Given the description of an element on the screen output the (x, y) to click on. 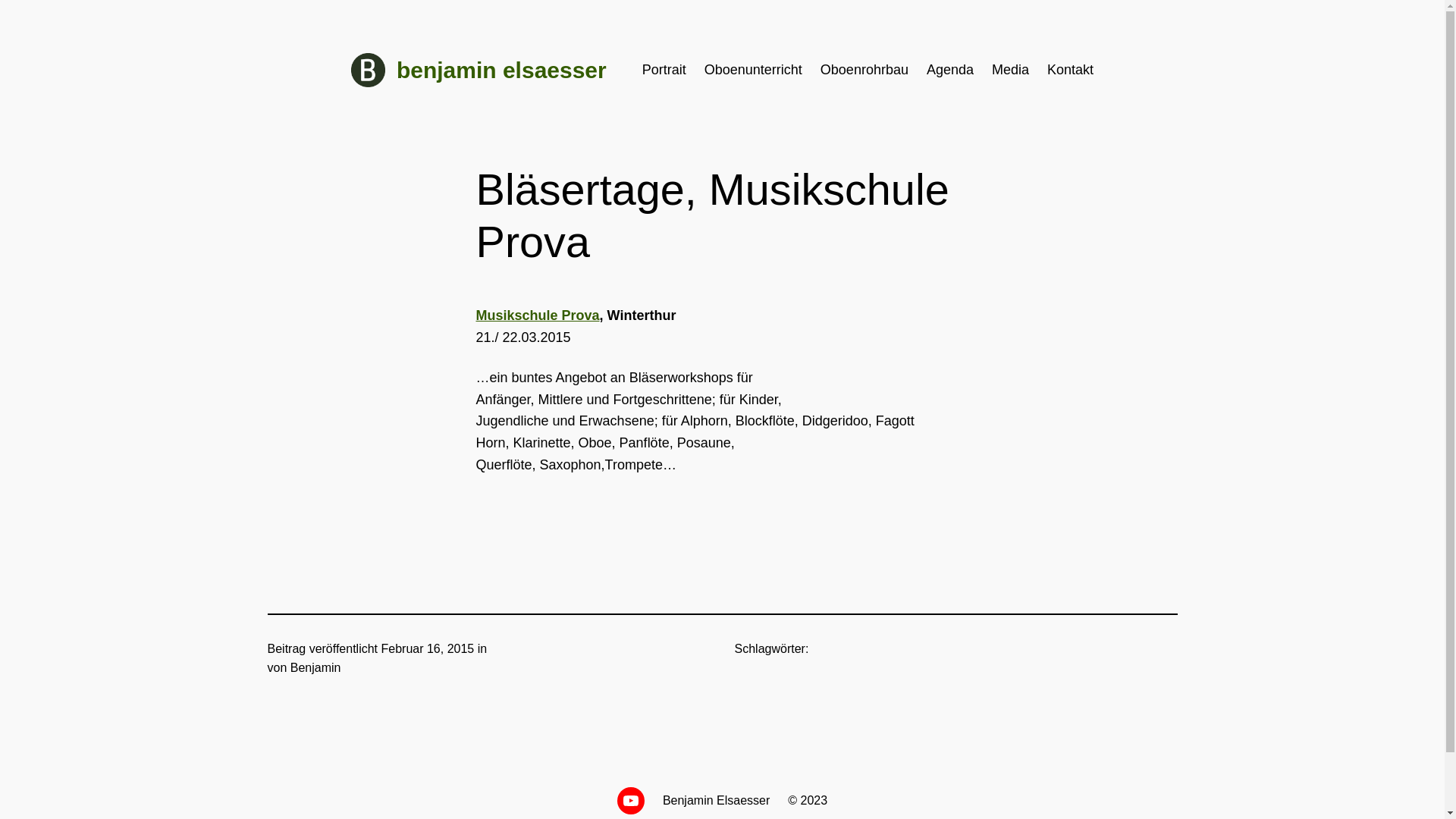
Oboenrohrbau Element type: text (864, 70)
Media Element type: text (1010, 70)
Musikschule Prova Element type: text (537, 315)
Kontakt Element type: text (1070, 70)
Portrait Element type: text (664, 70)
benjamin elsaesser Element type: text (501, 69)
YouTube Element type: text (630, 800)
Oboenunterricht Element type: text (753, 70)
Benjamin Elsaesser Element type: text (715, 799)
Agenda Element type: text (949, 70)
